Given the description of an element on the screen output the (x, y) to click on. 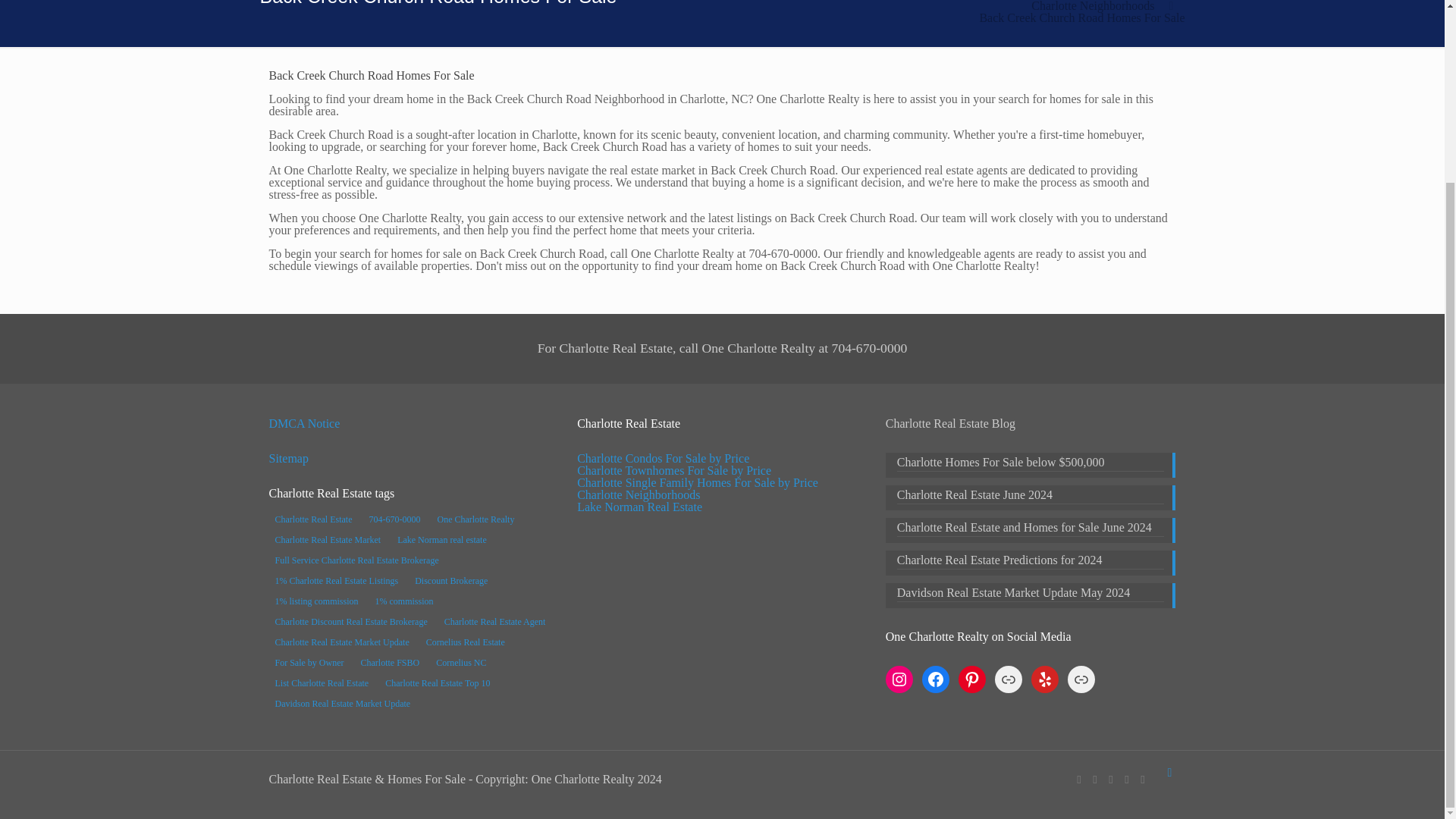
Instagram (1094, 779)
Charlotte Neighborhoods (1092, 6)
Discount Brokerage (451, 580)
Sitemap (287, 458)
One Charlotte Realty (474, 519)
Pinterest (1110, 779)
Facebook (1079, 779)
704-670-0000 (394, 519)
TrustPilot (1126, 779)
Charlotte Real Estate Market (327, 539)
DMCA Notice (303, 422)
Lake Norman real estate (442, 539)
Full Service Charlotte Real Estate Brokerage (355, 560)
Charlotte Real Estate (312, 519)
RSS (1142, 779)
